Given the description of an element on the screen output the (x, y) to click on. 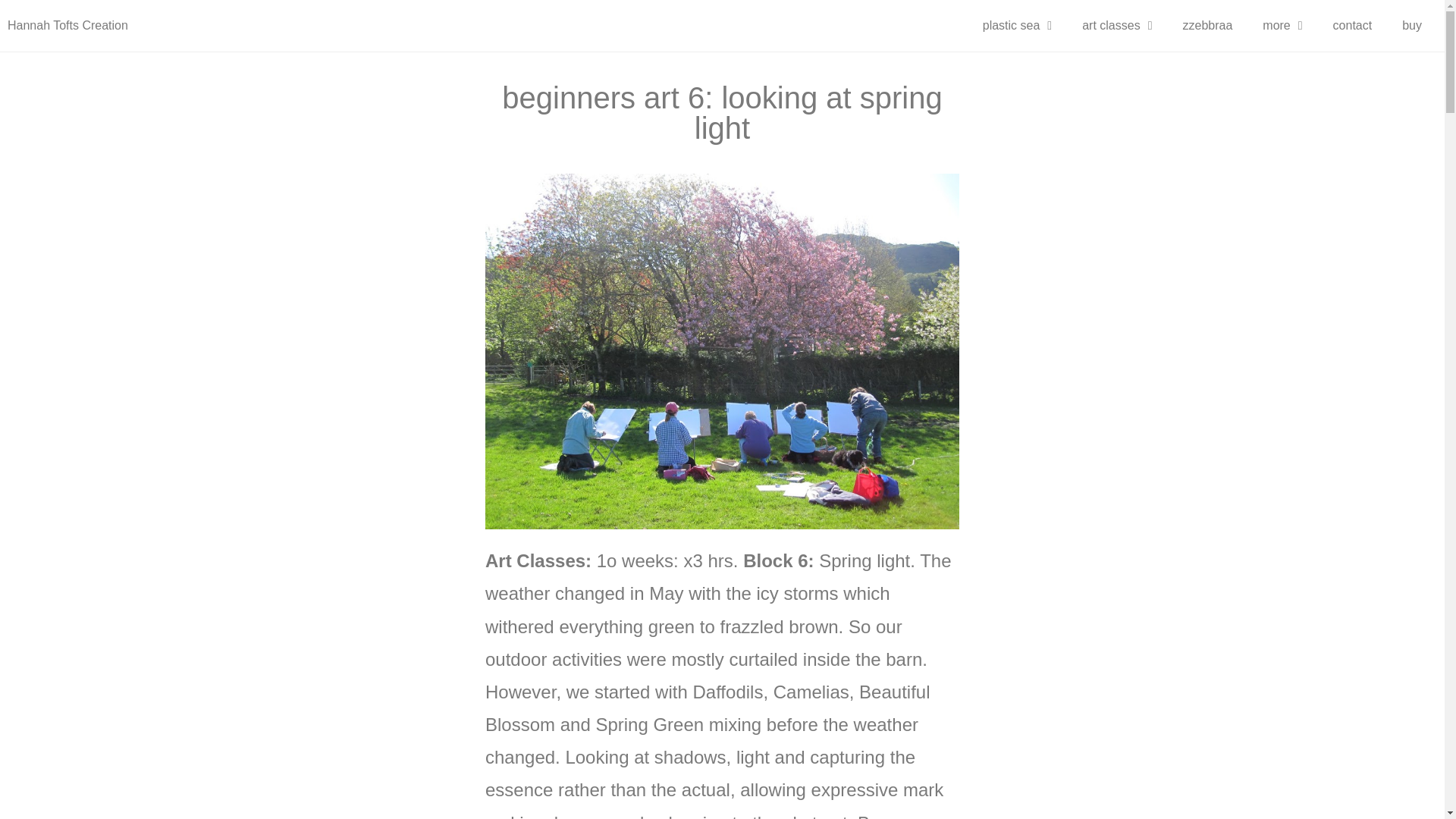
Hannah Tofts Creation (67, 24)
buy (1412, 25)
zzebbraa (1207, 25)
more (1282, 25)
art classes (1117, 25)
contact (1352, 25)
plastic sea (1017, 25)
